Given the description of an element on the screen output the (x, y) to click on. 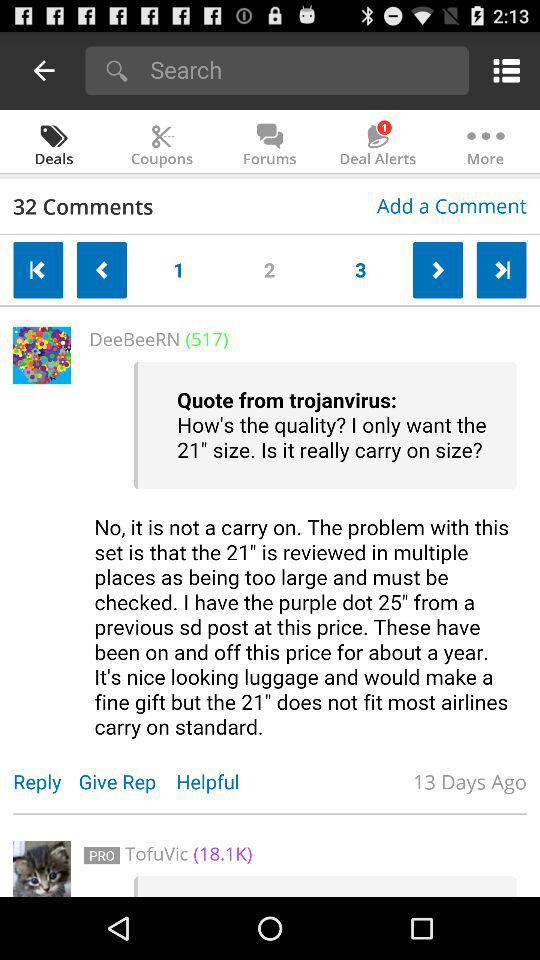
select a menu option on which is on the top right corner of the page (502, 70)
go to left of 1 (101, 270)
click on the previous button (38, 270)
click on the box next to 13 days ago (41, 868)
click on the second next arrow option (500, 270)
select the option coupons which is beside the deals (162, 143)
select the icon which is right to the icon deal alerts (486, 143)
